Given the description of an element on the screen output the (x, y) to click on. 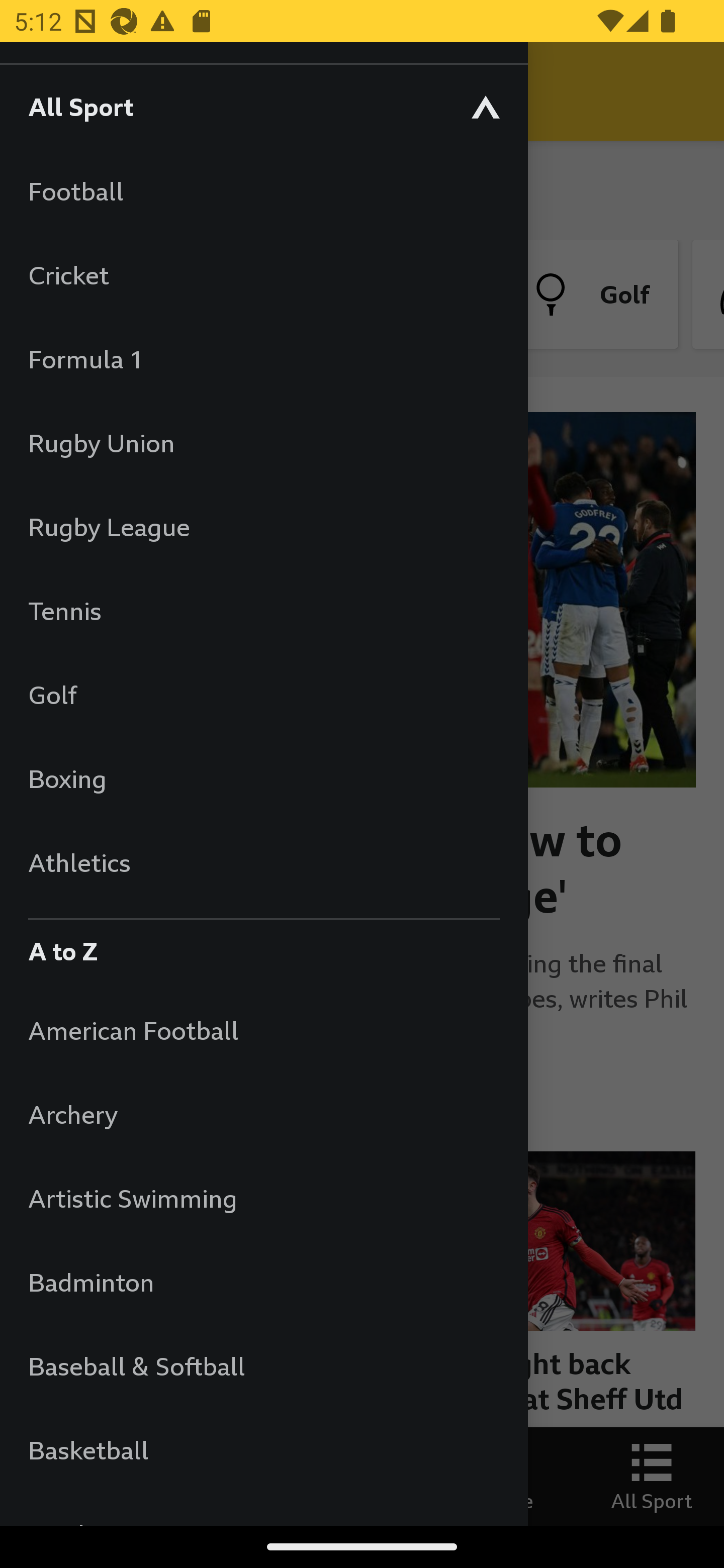
All Sport (263, 105)
Football (263, 190)
Cricket (263, 274)
Formula 1 (263, 358)
Rugby Union (263, 441)
Rugby League (263, 526)
Tennis (263, 609)
Golf (263, 694)
Boxing (263, 778)
Athletics (263, 862)
A to Z (263, 945)
American Football (263, 1029)
Archery (263, 1114)
Artistic Swimming (263, 1197)
Badminton (263, 1282)
Baseball & Softball (263, 1365)
Basketball (263, 1450)
